Given the description of an element on the screen output the (x, y) to click on. 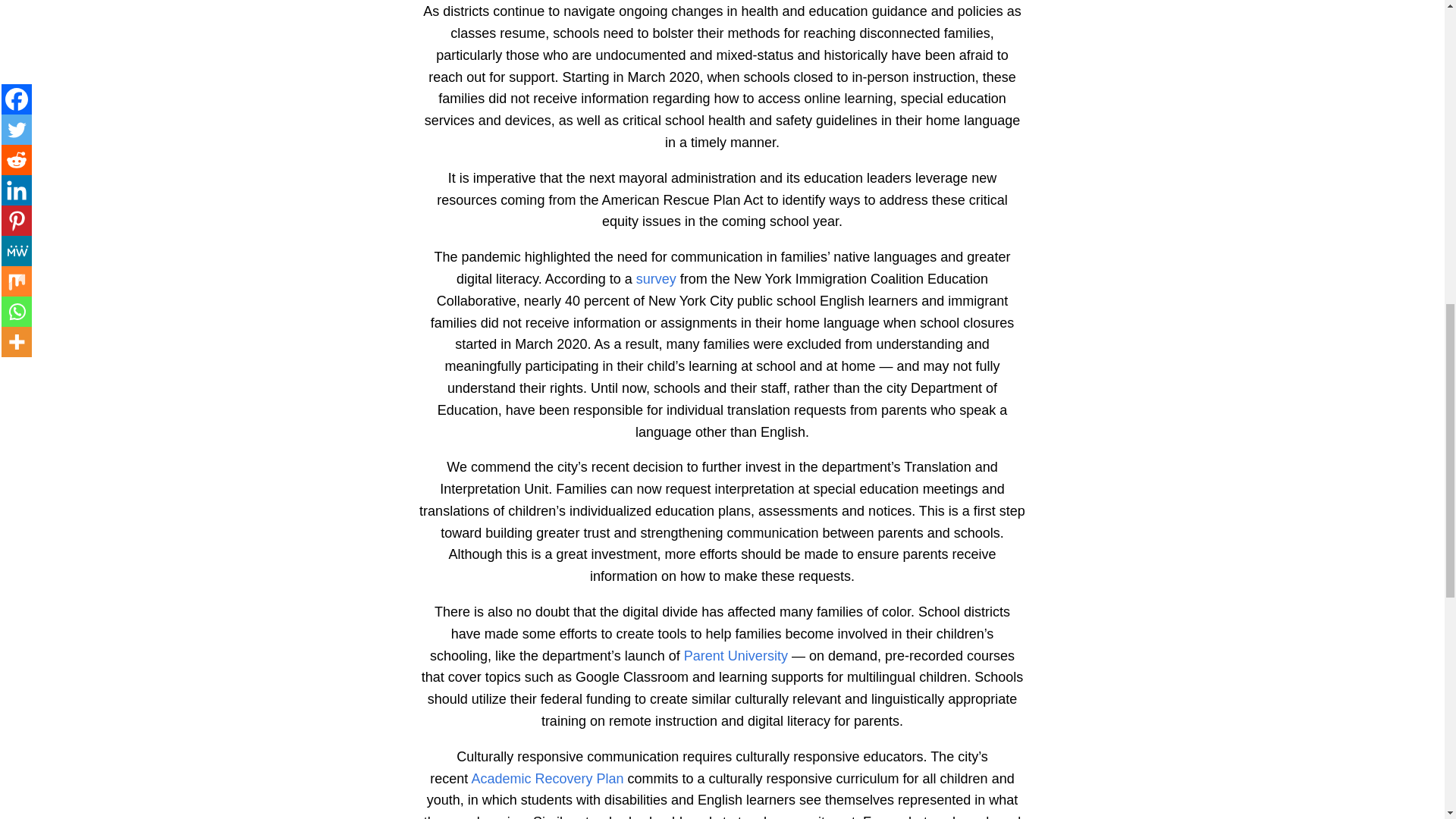
survey (656, 278)
Academic Recovery Plan (546, 778)
Parent University (735, 655)
